Given the description of an element on the screen output the (x, y) to click on. 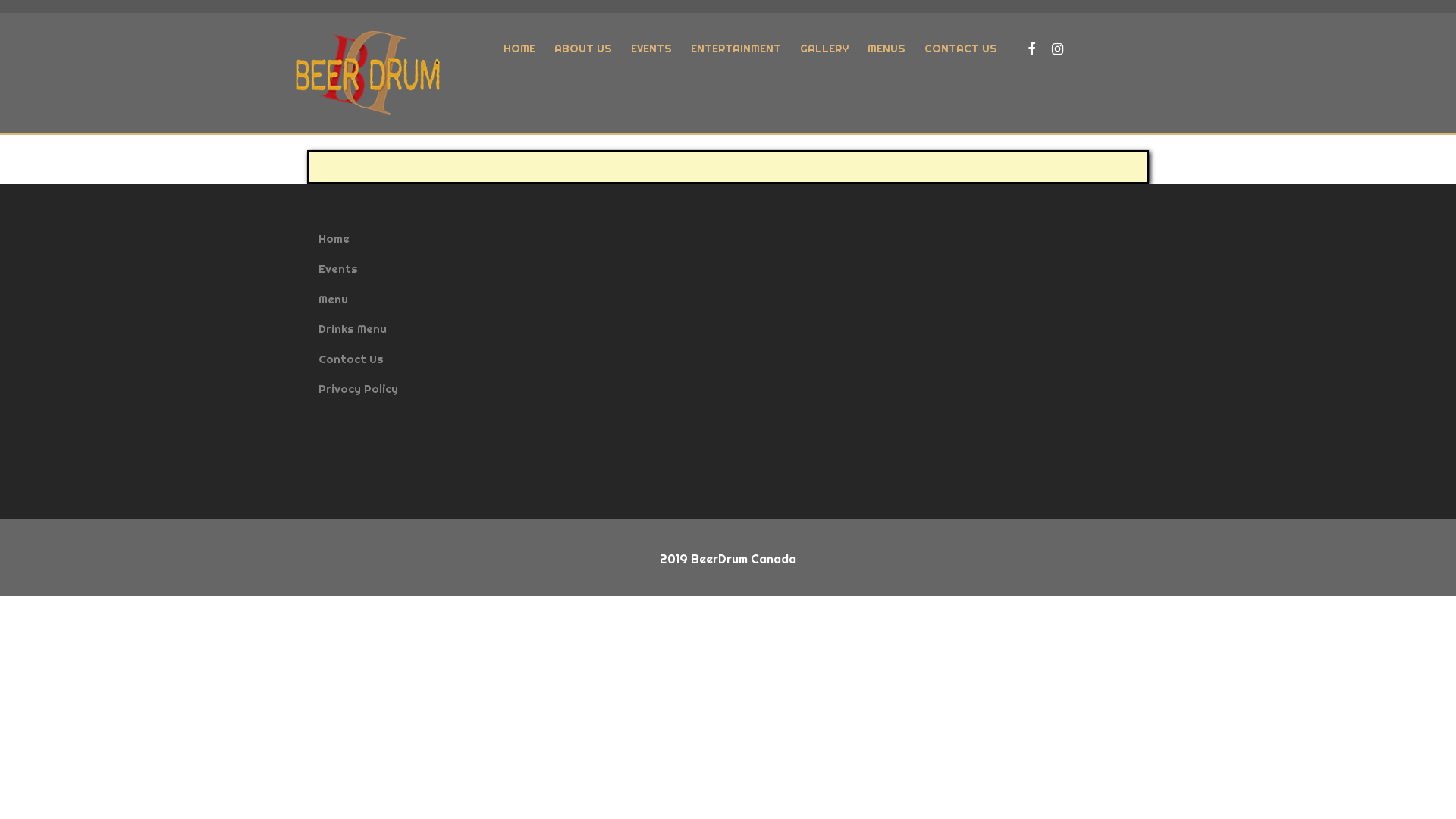
Home Element type: text (333, 238)
ABOUT US Element type: text (582, 48)
EVENTS Element type: text (651, 48)
Events Element type: text (337, 268)
Privacy Policy Element type: text (358, 388)
Menu Element type: text (333, 298)
Contact Us Element type: text (350, 358)
Drinks Menu Element type: text (352, 328)
HOME Element type: text (518, 48)
MENUS Element type: text (886, 48)
GALLERY Element type: text (824, 48)
CONTACT US Element type: text (960, 48)
ENTERTAINMENT Element type: text (735, 48)
